Given the description of an element on the screen output the (x, y) to click on. 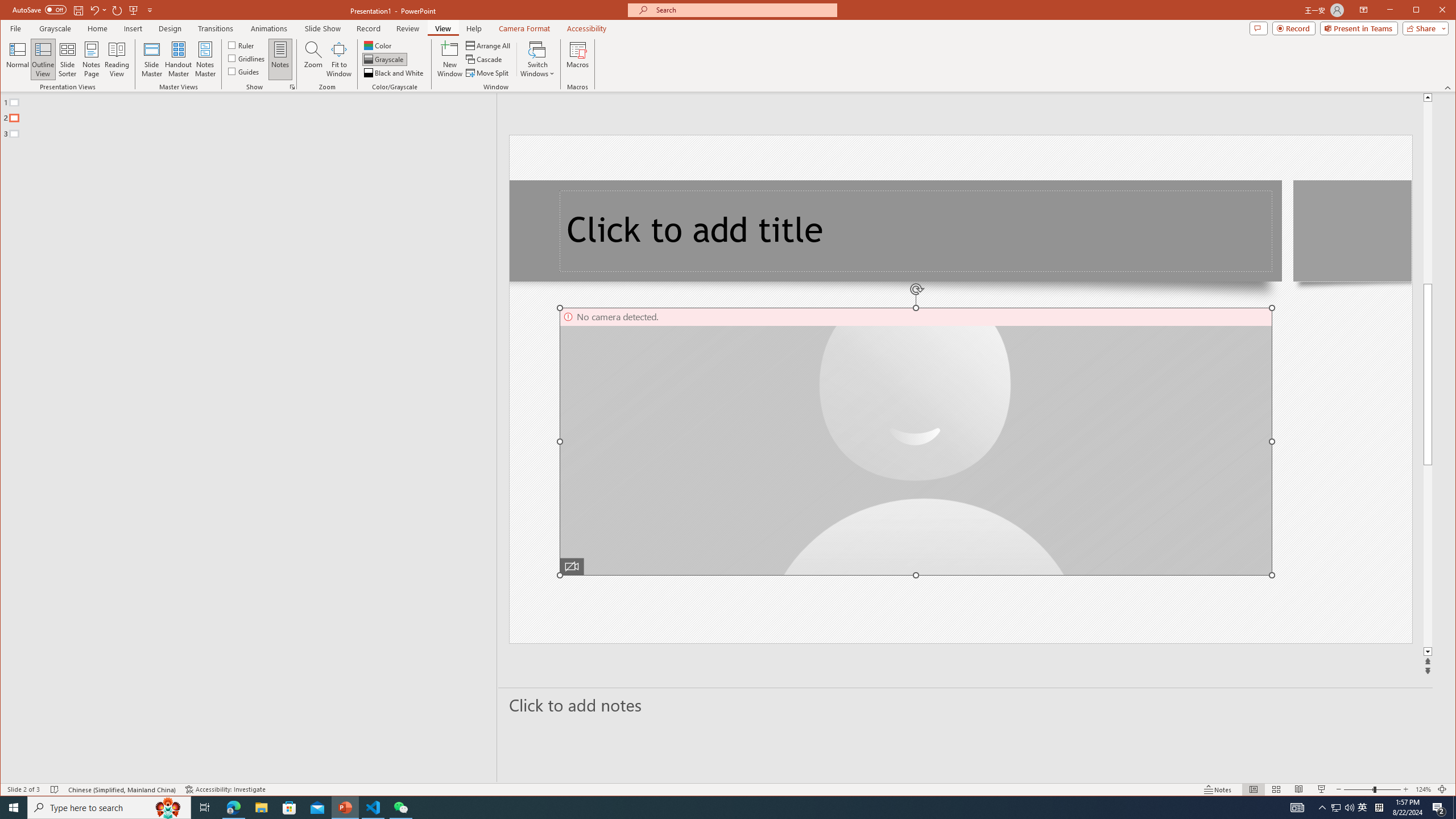
Page up (1427, 192)
Zoom 124% (1422, 789)
Grayscale (55, 28)
Fit to Window (338, 59)
Title TextBox (915, 230)
Notes (279, 59)
Zoom... (312, 59)
